Given the description of an element on the screen output the (x, y) to click on. 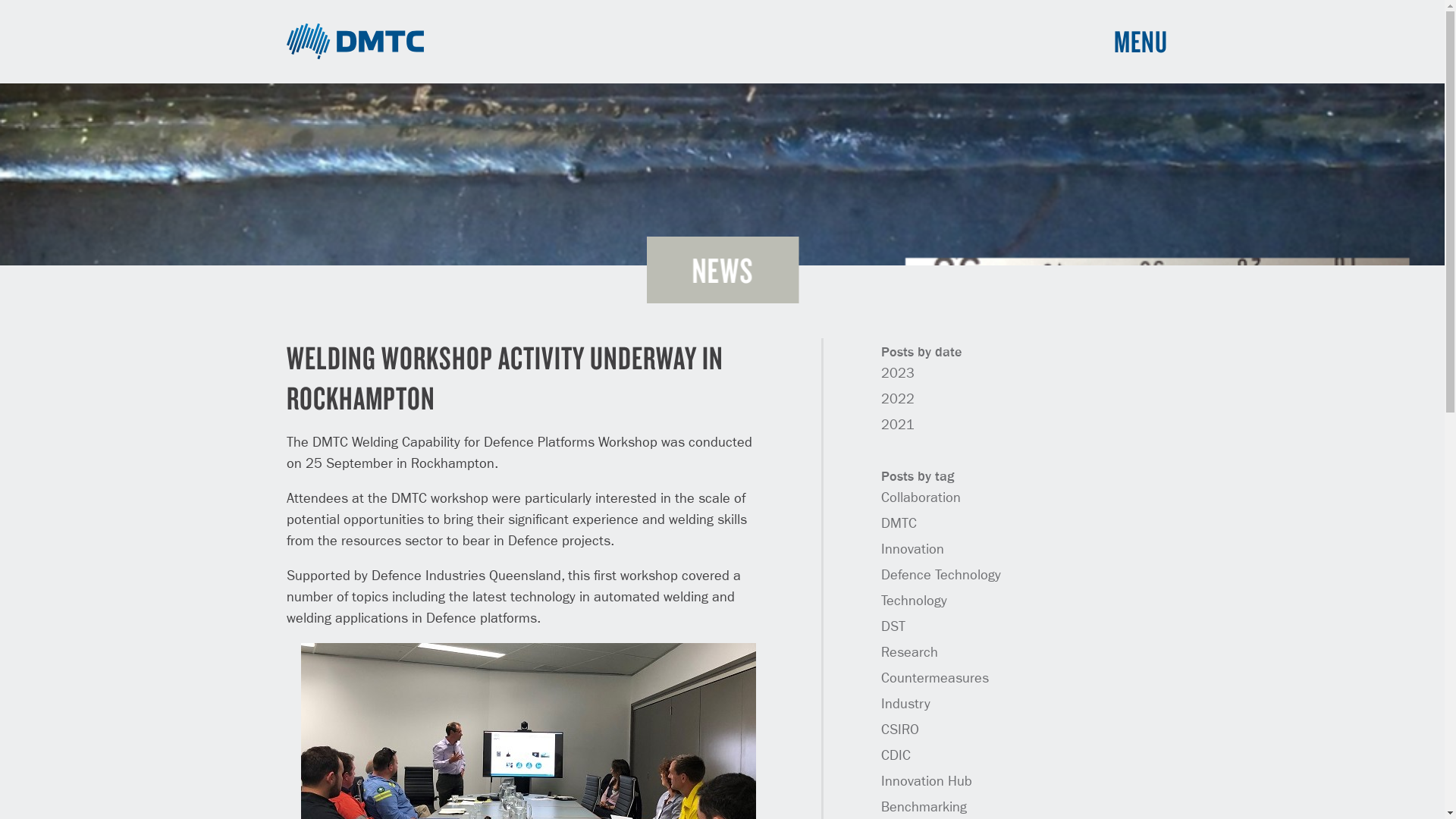
Our Board Element type: text (387, 616)
NEWS Element type: text (722, 269)
Land Element type: text (578, 562)
2021 Element type: text (897, 425)
Collaboration Element type: text (920, 498)
Defence Technology Element type: text (941, 575)
2023 Element type: text (897, 373)
OUR ACTIVITIES Element type: text (607, 525)
RESEARCH Element type: text (797, 544)
Enabling Technologies Element type: text (625, 616)
Industry Capability Element type: text (615, 598)
CDIC Element type: text (895, 755)
Air Element type: text (572, 544)
Health Security Systems Element type: text (630, 653)
Certex Element type: text (1020, 605)
WELCOME Element type: text (387, 525)
Innovation Hub Element type: text (926, 781)
Certex Element type: text (1012, 655)
2022 Element type: text (897, 399)
CSIRO Element type: text (900, 730)
DMTC Element type: text (355, 41)
FAQ Element type: text (779, 616)
PUBLICATIONS Element type: text (807, 598)
Our Team Element type: text (385, 598)
About DMTC Element type: text (393, 544)
Innovation Element type: text (912, 549)
DMTC Element type: text (898, 523)
How DMTC Works Element type: text (405, 562)
Countermeasures Element type: text (934, 678)
Benchmarking Element type: text (923, 807)
CONTACT US Element type: text (801, 635)
DST Element type: text (893, 626)
NEWS Element type: text (784, 580)
SITE BY JAC& Element type: text (1130, 773)
IN-KIND PORTAL Element type: text (1027, 563)
Research Element type: text (909, 652)
Maritime Element type: text (588, 580)
DMTC Fellowships Element type: text (408, 653)
IMS LOGIN Element type: text (1015, 529)
Industry Element type: text (905, 704)
Technology Element type: text (914, 601)
Governance Element type: text (392, 635)
Geospatial & ISR Element type: text (611, 635)
How to Engage with DMTC Element type: text (429, 580)
TERMS OF USE Element type: text (1064, 773)
OUR PARTNERS Element type: text (809, 562)
EDUCATION & TRAINING Element type: text (832, 525)
